Given the description of an element on the screen output the (x, y) to click on. 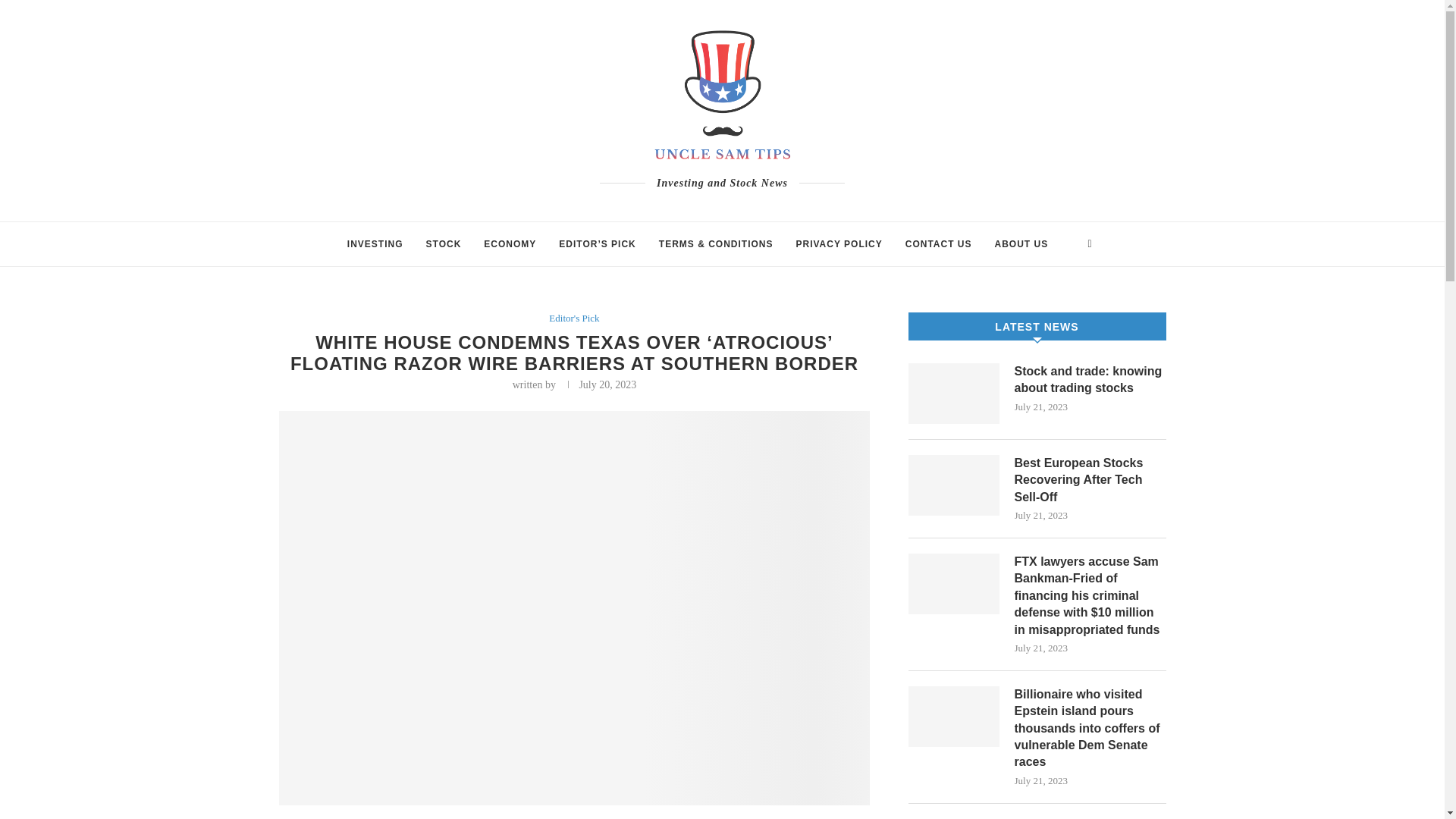
Editor's Pick (573, 318)
ECONOMY (509, 243)
PRIVACY POLICY (838, 243)
ABOUT US (1021, 243)
STOCK (443, 243)
INVESTING (375, 243)
CONTACT US (938, 243)
